Given the description of an element on the screen output the (x, y) to click on. 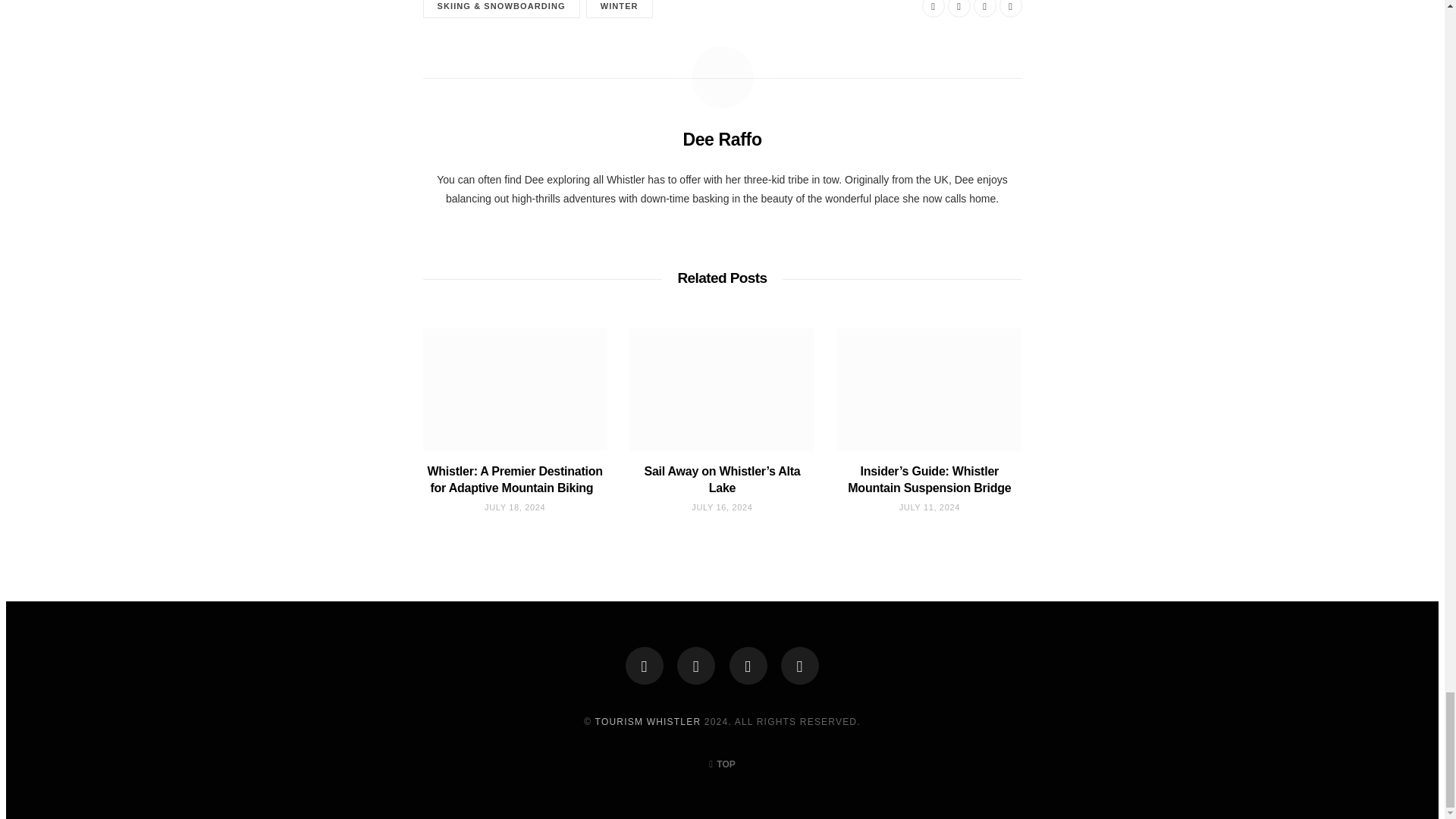
Email (1010, 8)
Share on Facebook (932, 8)
WINTER (619, 9)
Pinterest (984, 8)
Posts by Dee Raffo (721, 139)
Share on Twitter (959, 8)
